Given the description of an element on the screen output the (x, y) to click on. 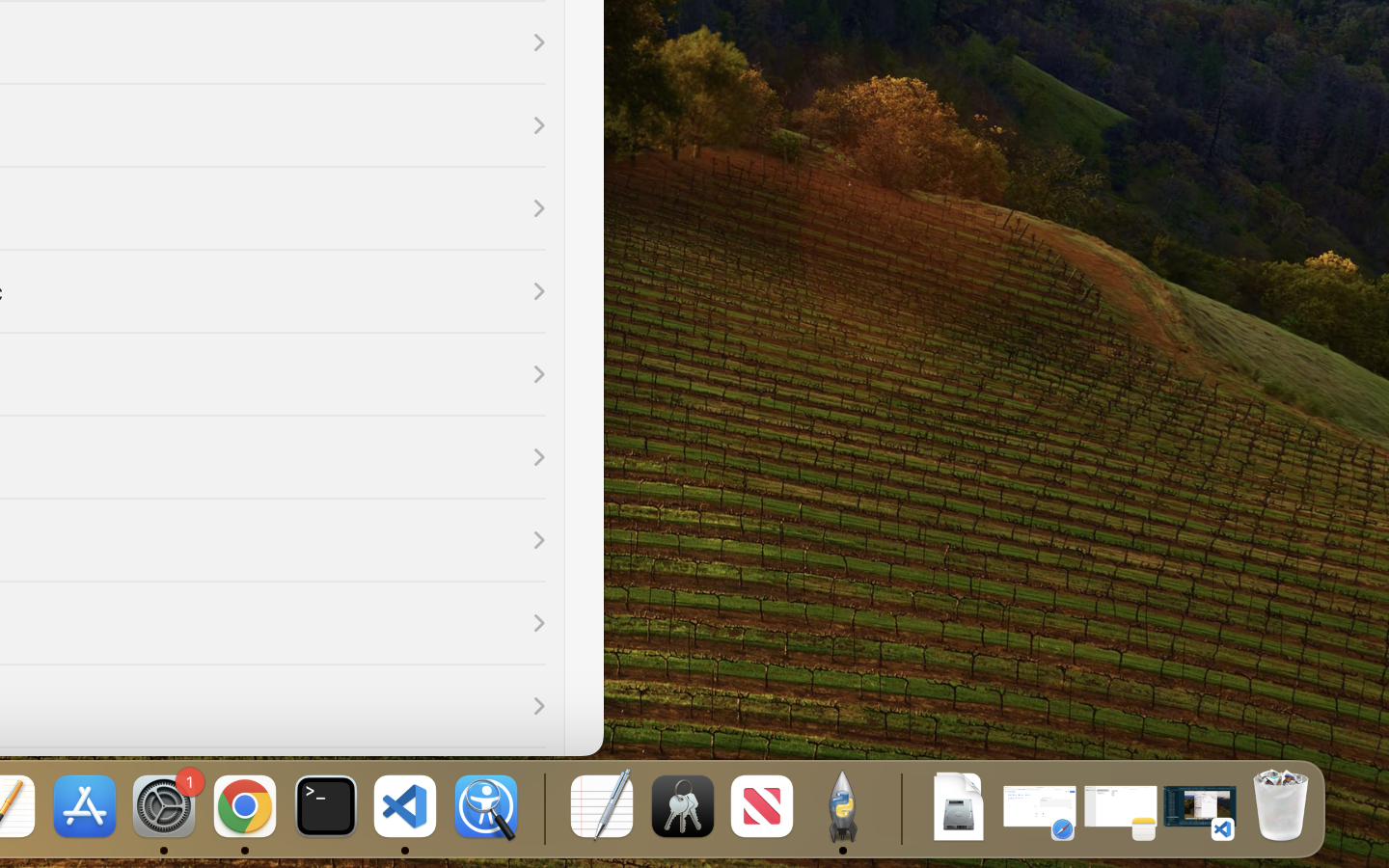
0.4285714328289032 Element type: AXDockItem (541, 807)
